Given the description of an element on the screen output the (x, y) to click on. 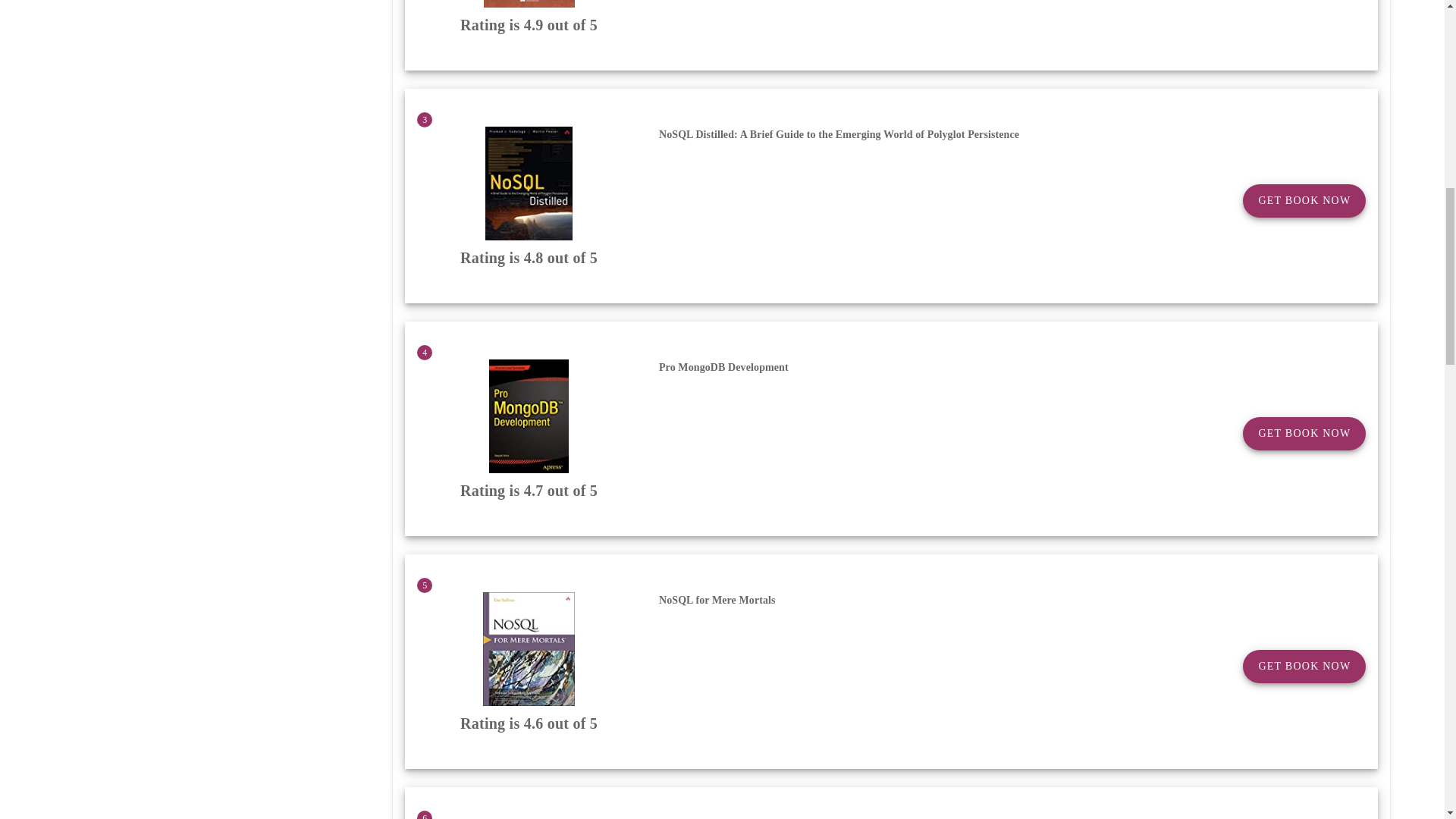
GET BOOK NOW (1304, 666)
GET BOOK NOW (1304, 433)
GET BOOK NOW (1304, 200)
